Given the description of an element on the screen output the (x, y) to click on. 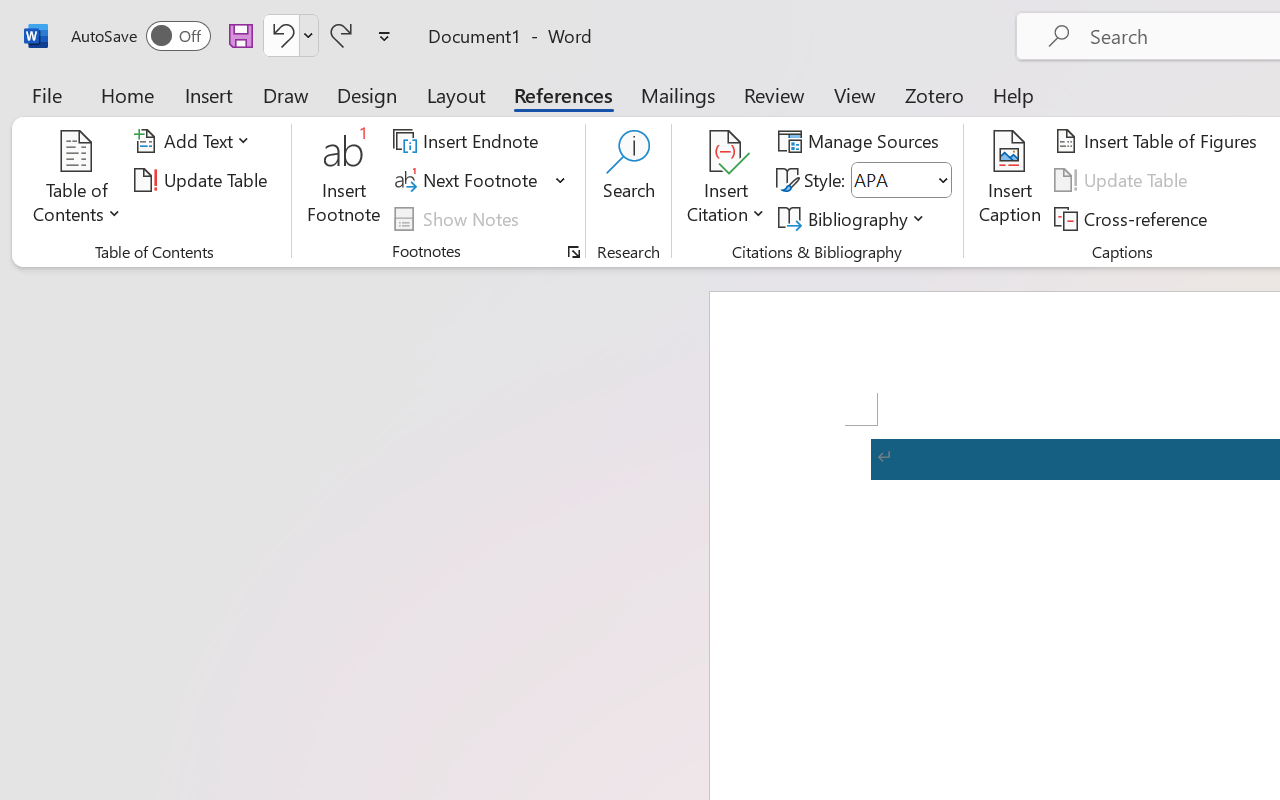
Style (901, 179)
Next Footnote (468, 179)
Update Table... (204, 179)
Redo Apply Quick Style (341, 35)
Undo Apply Quick Style Set (290, 35)
Add Text (195, 141)
Footnote and Endnote Dialog... (573, 252)
Cross-reference... (1133, 218)
Manage Sources... (861, 141)
Style (892, 179)
